Given the description of an element on the screen output the (x, y) to click on. 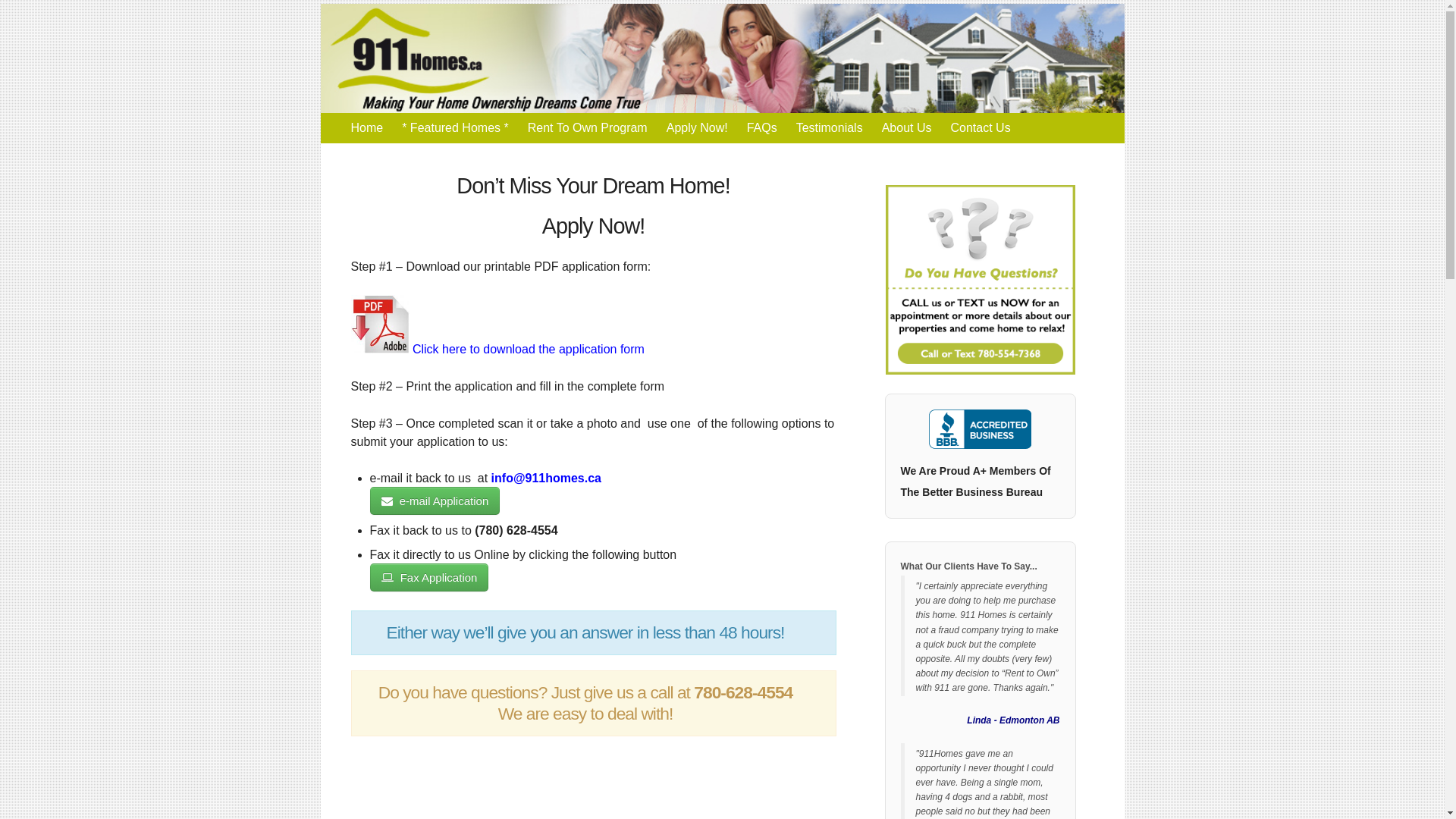
911 rent image 1 Element type: hover (980, 279)
Home Element type: text (366, 127)
Rent To Own Program Element type: text (587, 127)
Linda - Edmonton AB Element type: text (1012, 719)
* Featured Homes * Element type: text (454, 127)
 info@911homes.ca Element type: text (544, 477)
Click here to download the application form Element type: text (496, 348)
Apply Now! Element type: text (697, 127)
Contact Us Element type: text (980, 127)
BBB Element type: hover (980, 442)
FAQs Element type: text (761, 127)
Contact Us Element type: hover (979, 279)
Fax Application Element type: text (429, 577)
About Us Element type: text (906, 127)
bbbsealh1 Element type: hover (979, 428)
e-mail Application Element type: text (435, 500)
Testimonials Element type: text (829, 127)
